Given the description of an element on the screen output the (x, y) to click on. 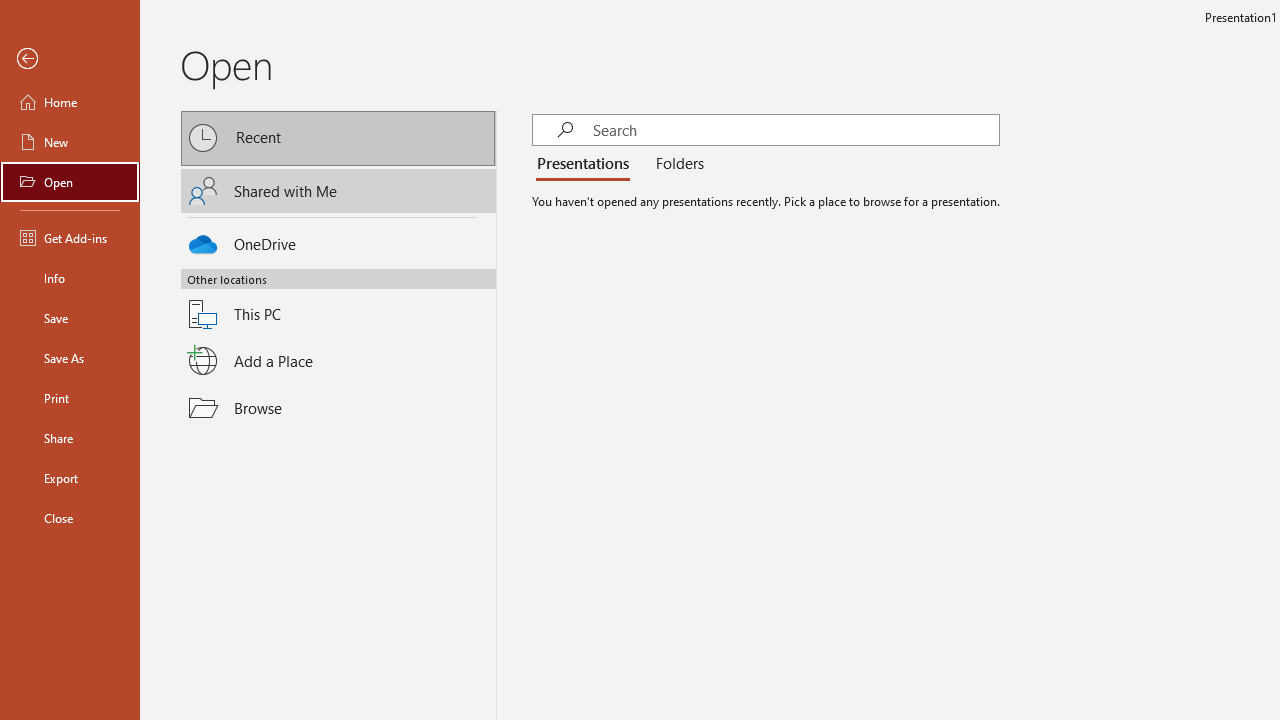
Recent (338, 138)
Shared with Me (338, 191)
Get Add-ins (69, 237)
Export (69, 477)
New (69, 141)
Folders (676, 164)
Back (69, 59)
This PC (338, 302)
Presentations (587, 164)
